Given the description of an element on the screen output the (x, y) to click on. 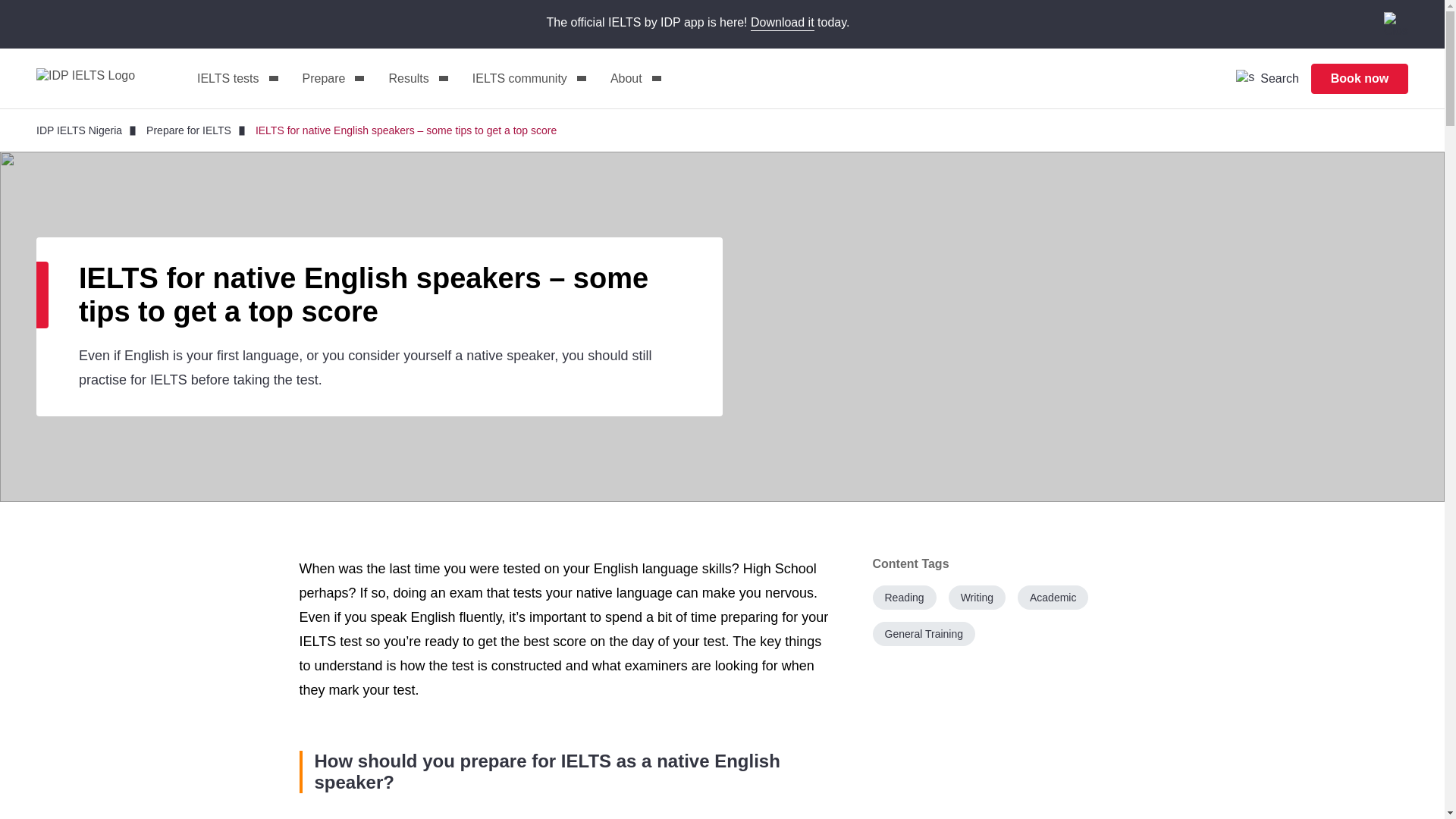
IDP IELTS (96, 78)
IELTS tests (236, 78)
IELTS tests (236, 78)
Download it (782, 23)
